Given the description of an element on the screen output the (x, y) to click on. 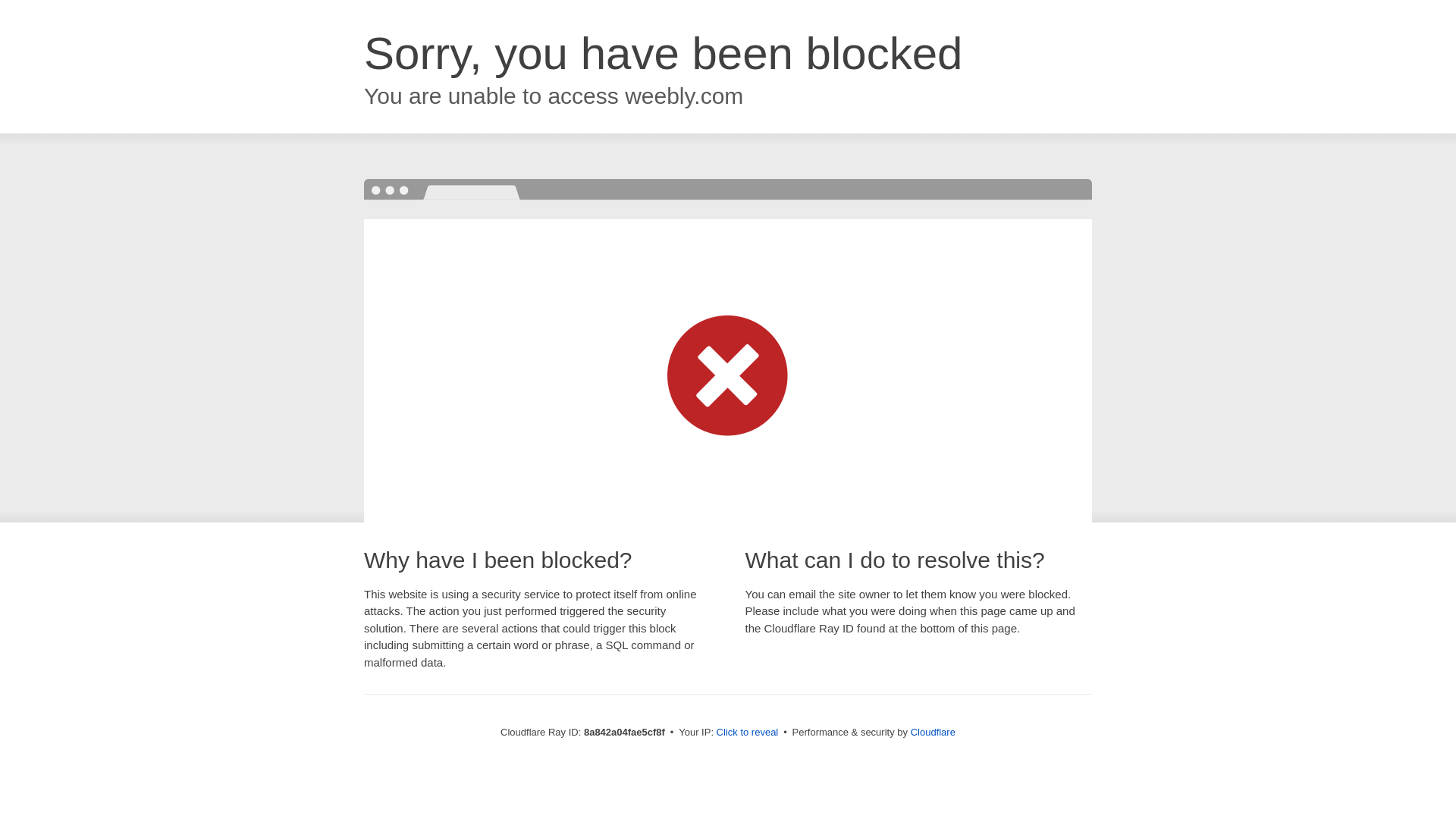
Cloudflare (933, 731)
Click to reveal (747, 732)
